Given the description of an element on the screen output the (x, y) to click on. 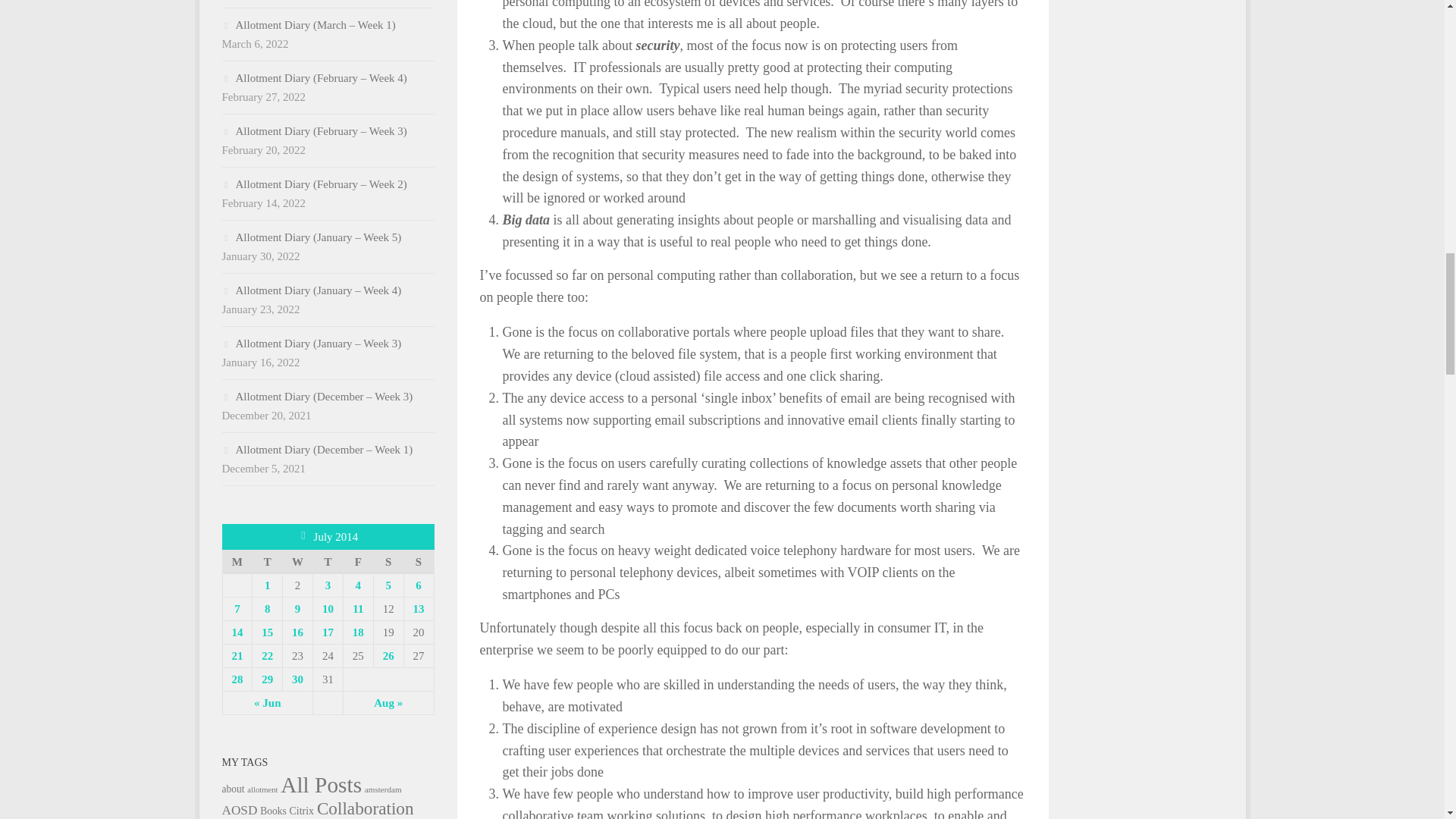
Thursday (328, 561)
Sunday (418, 561)
Wednesday (297, 561)
Tuesday (266, 561)
Friday (357, 561)
Saturday (387, 561)
Monday (236, 561)
